Given the description of an element on the screen output the (x, y) to click on. 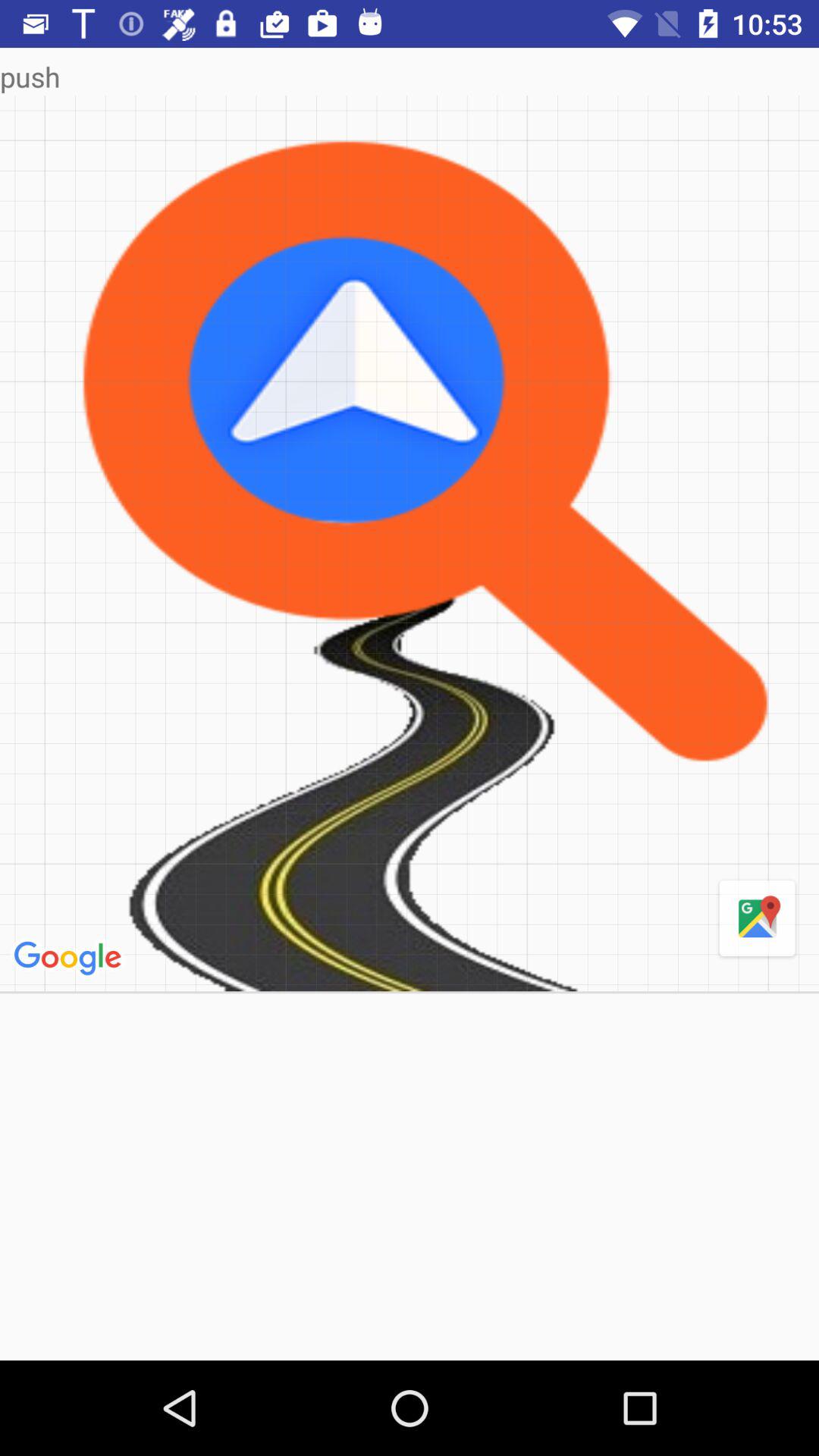
select item below the push icon (409, 543)
